Given the description of an element on the screen output the (x, y) to click on. 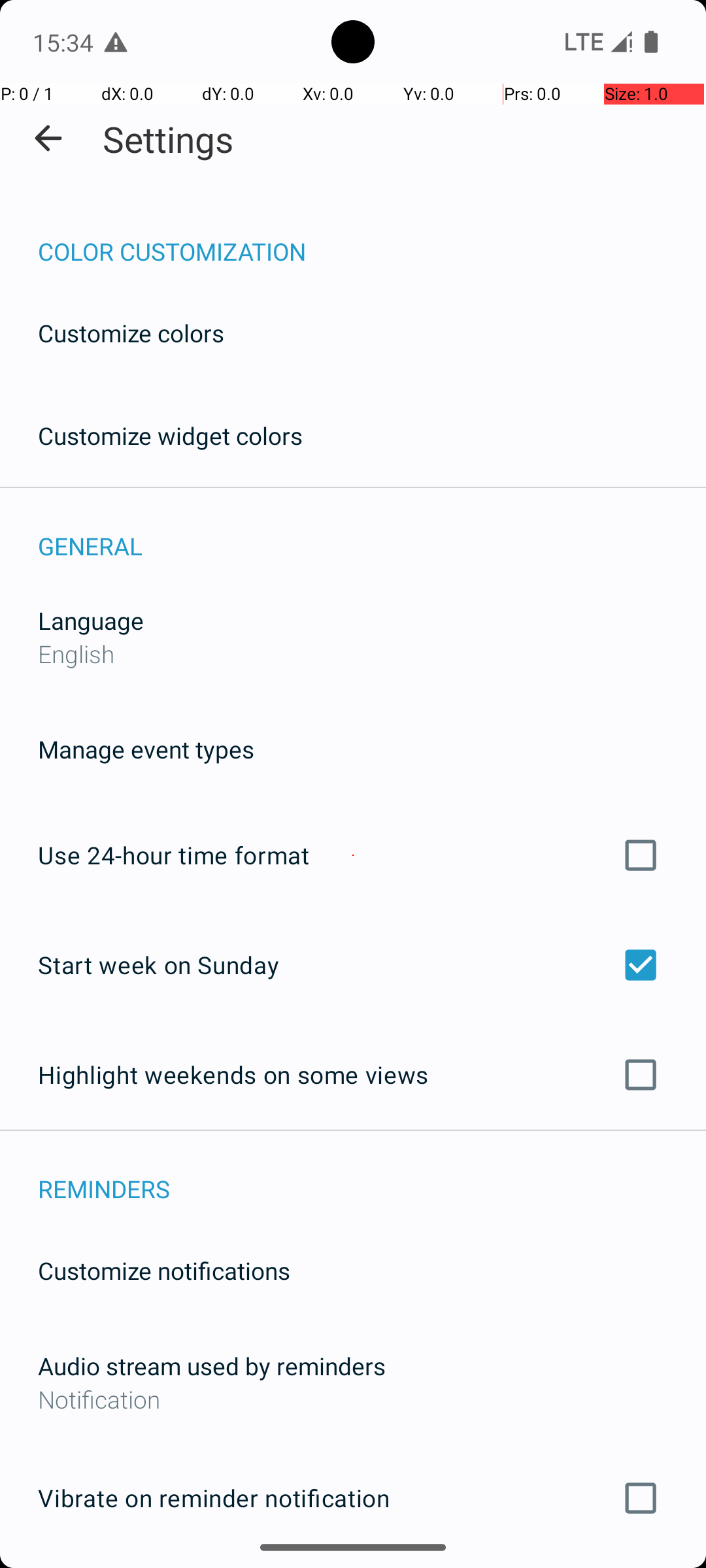
COLOR CUSTOMIZATION Element type: android.widget.TextView (371, 237)
REMINDERS Element type: android.widget.TextView (371, 1174)
Customize widget colors Element type: android.widget.TextView (170, 435)
English Element type: android.widget.TextView (75, 653)
Use 24-hour time format Element type: android.widget.CheckBox (352, 855)
Start week on Sunday Element type: android.widget.CheckBox (352, 964)
Highlight weekends on some views Element type: android.widget.CheckBox (352, 1074)
Customize notifications Element type: android.widget.TextView (163, 1270)
Audio stream used by reminders Element type: android.widget.TextView (211, 1365)
Vibrate on reminder notification Element type: android.widget.CheckBox (352, 1497)
Loop reminders until dismissed Element type: android.widget.CheckBox (352, 1567)
